Given the description of an element on the screen output the (x, y) to click on. 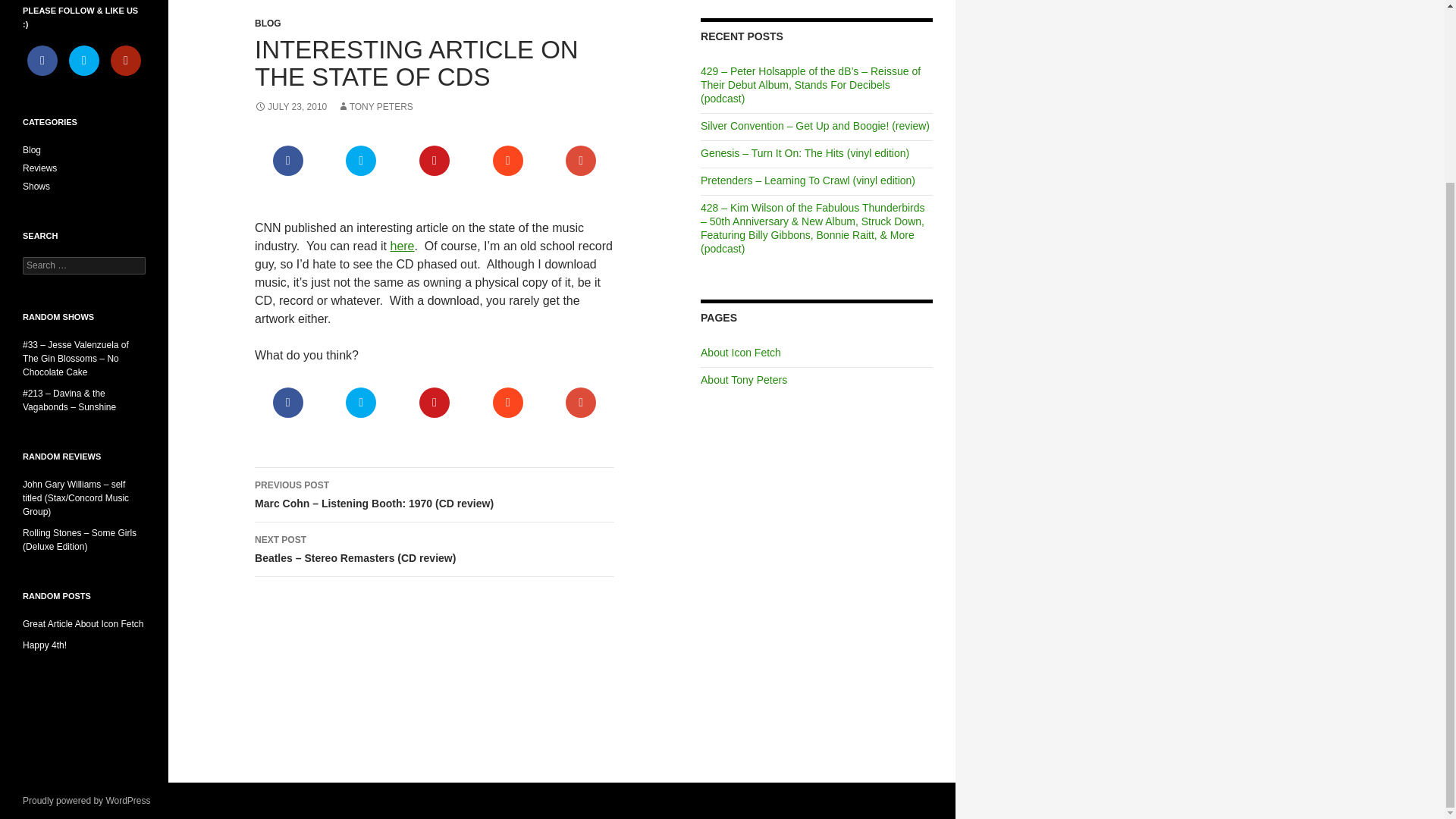
Shows (36, 185)
Blog (31, 149)
About Icon Fetch (740, 352)
Reviews (39, 167)
TONY PETERS (375, 106)
JULY 23, 2010 (290, 106)
About Tony Peters (743, 379)
here (401, 245)
BLOG (267, 23)
